Given the description of an element on the screen output the (x, y) to click on. 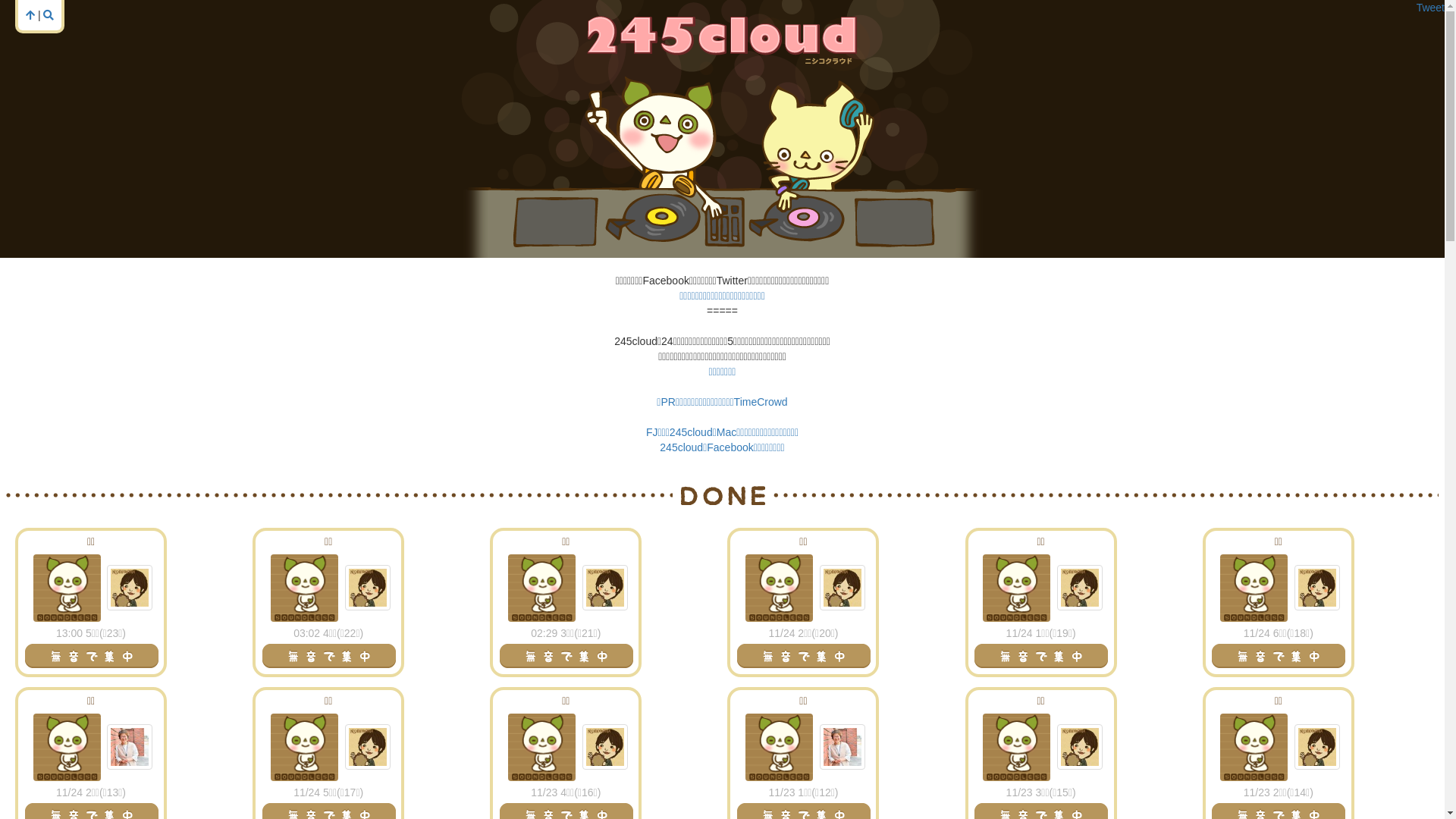
Tweet Element type: text (1430, 7)
